Given the description of an element on the screen output the (x, y) to click on. 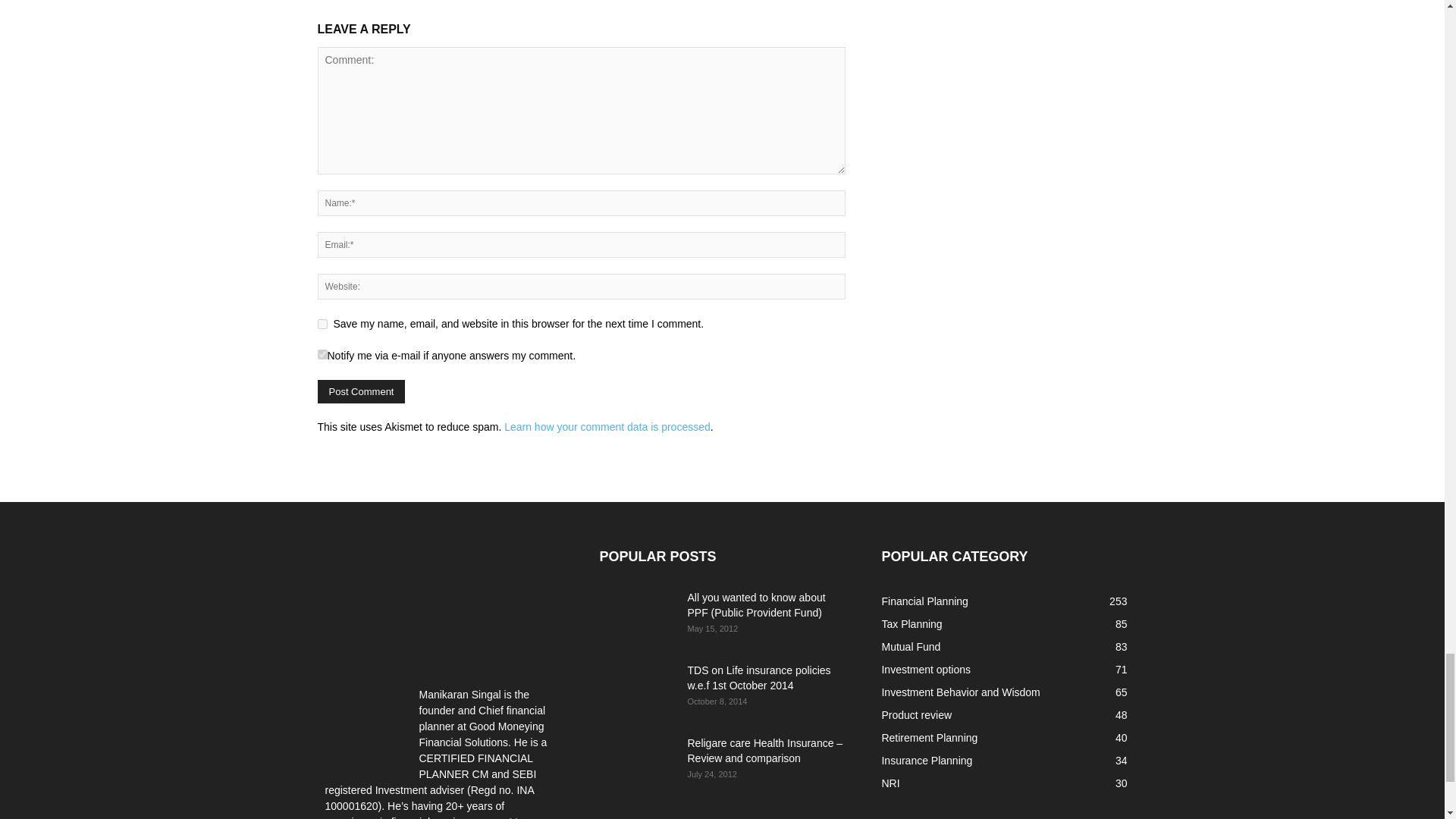
Post Comment (360, 391)
yes (321, 324)
on (321, 354)
